Given the description of an element on the screen output the (x, y) to click on. 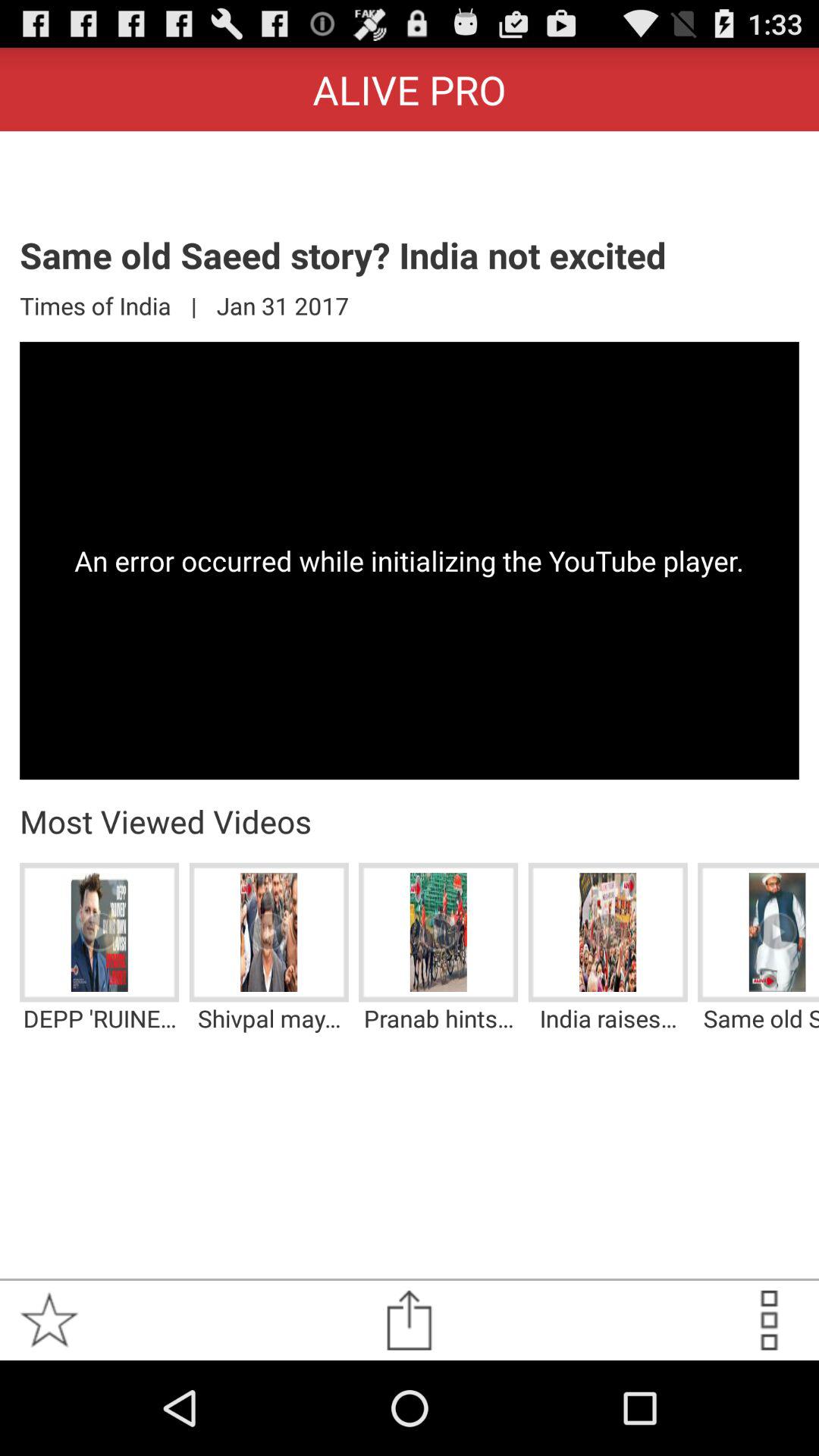
save to watch later (769, 1320)
